Given the description of an element on the screen output the (x, y) to click on. 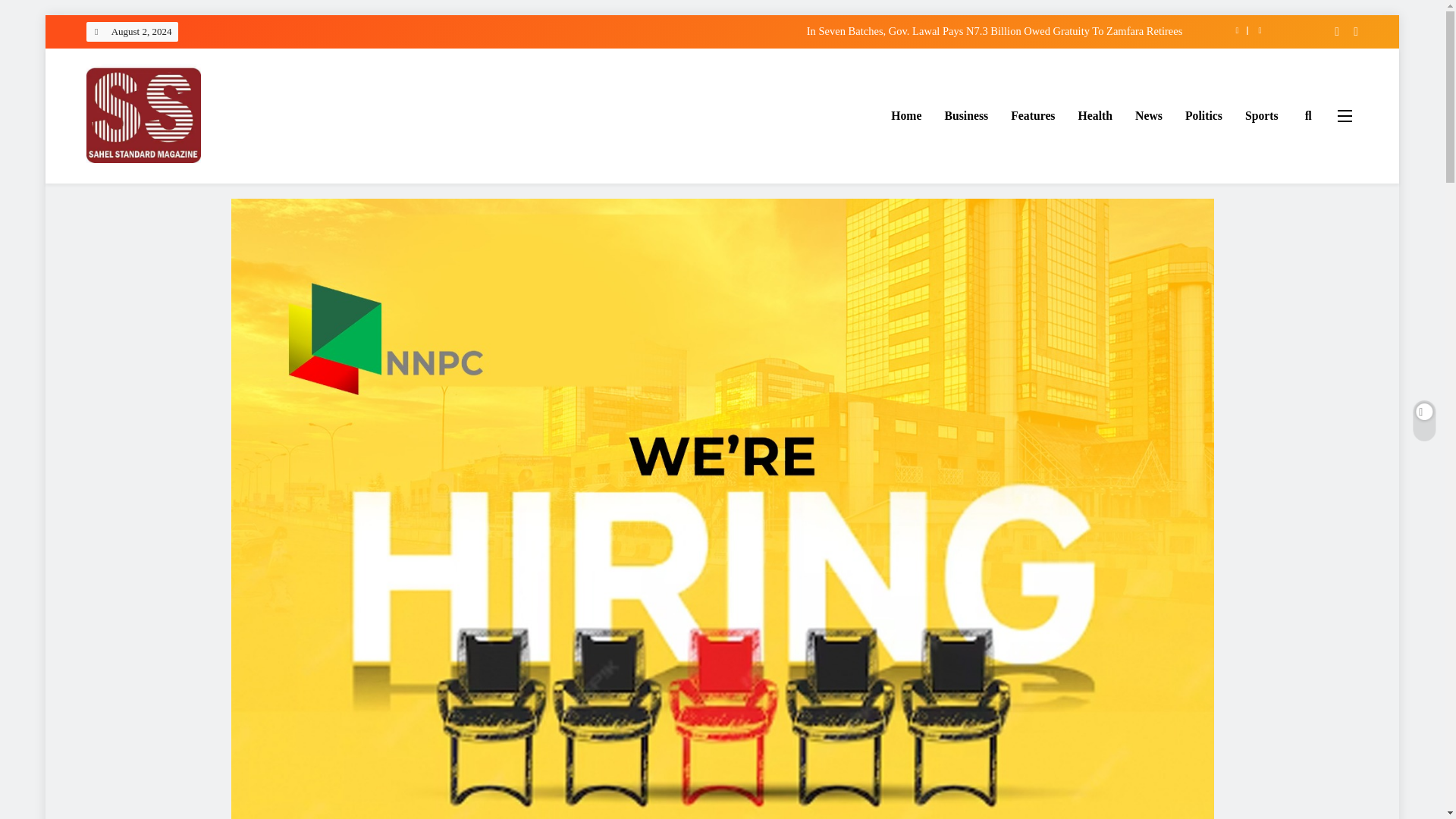
News (1148, 115)
Sahel Standard (162, 184)
Business (965, 115)
Features (1031, 115)
Health (1095, 115)
Home (906, 115)
Sports (1261, 115)
